Given the description of an element on the screen output the (x, y) to click on. 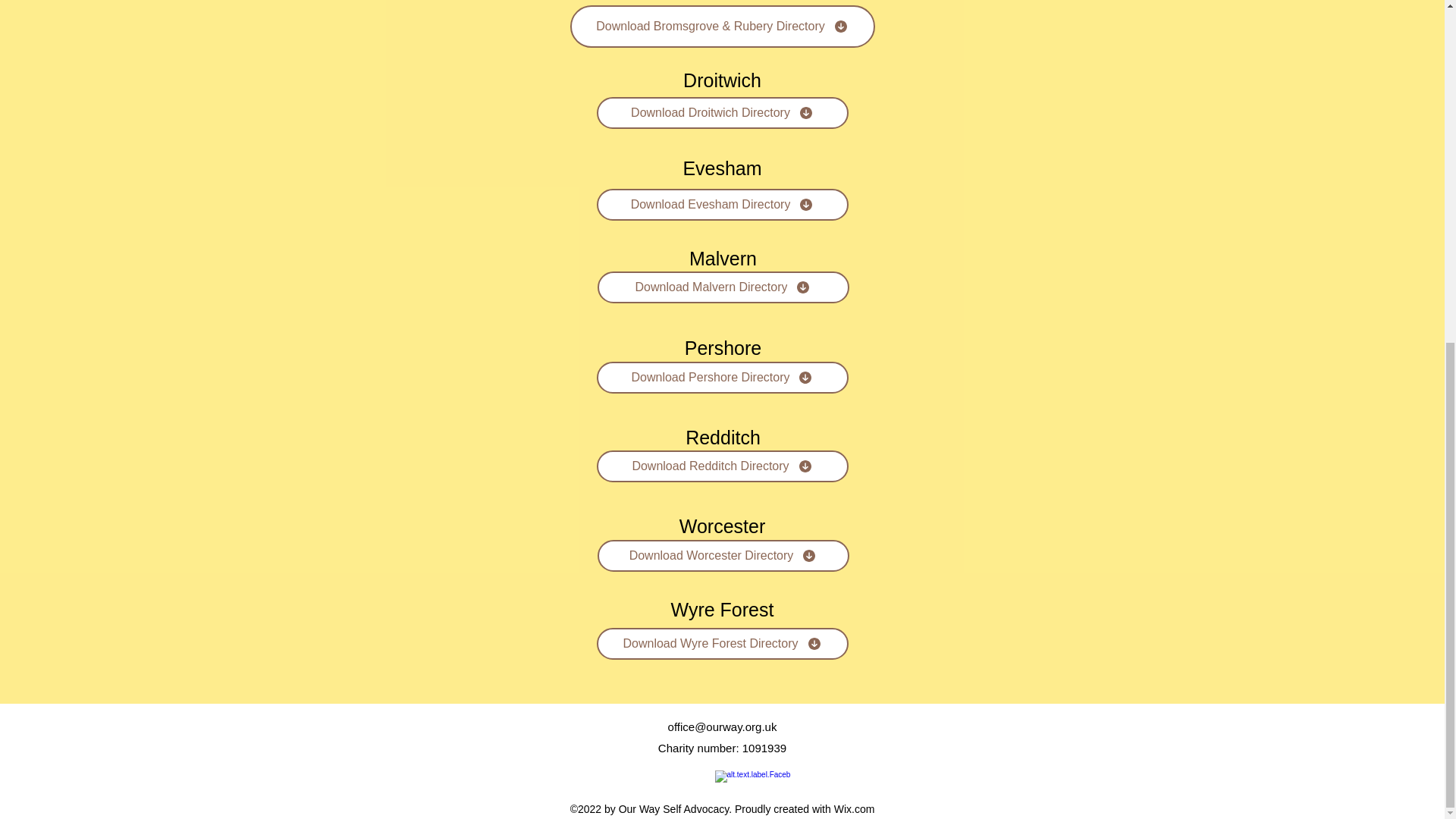
Download Worcester Directory (722, 555)
Download Wyre Forest Directory (721, 644)
Download Malvern Directory (722, 287)
Download Redditch Directory (721, 466)
Download Pershore Directory (721, 377)
Download Evesham Directory (721, 204)
Download Droitwich Directory (721, 112)
